Given the description of an element on the screen output the (x, y) to click on. 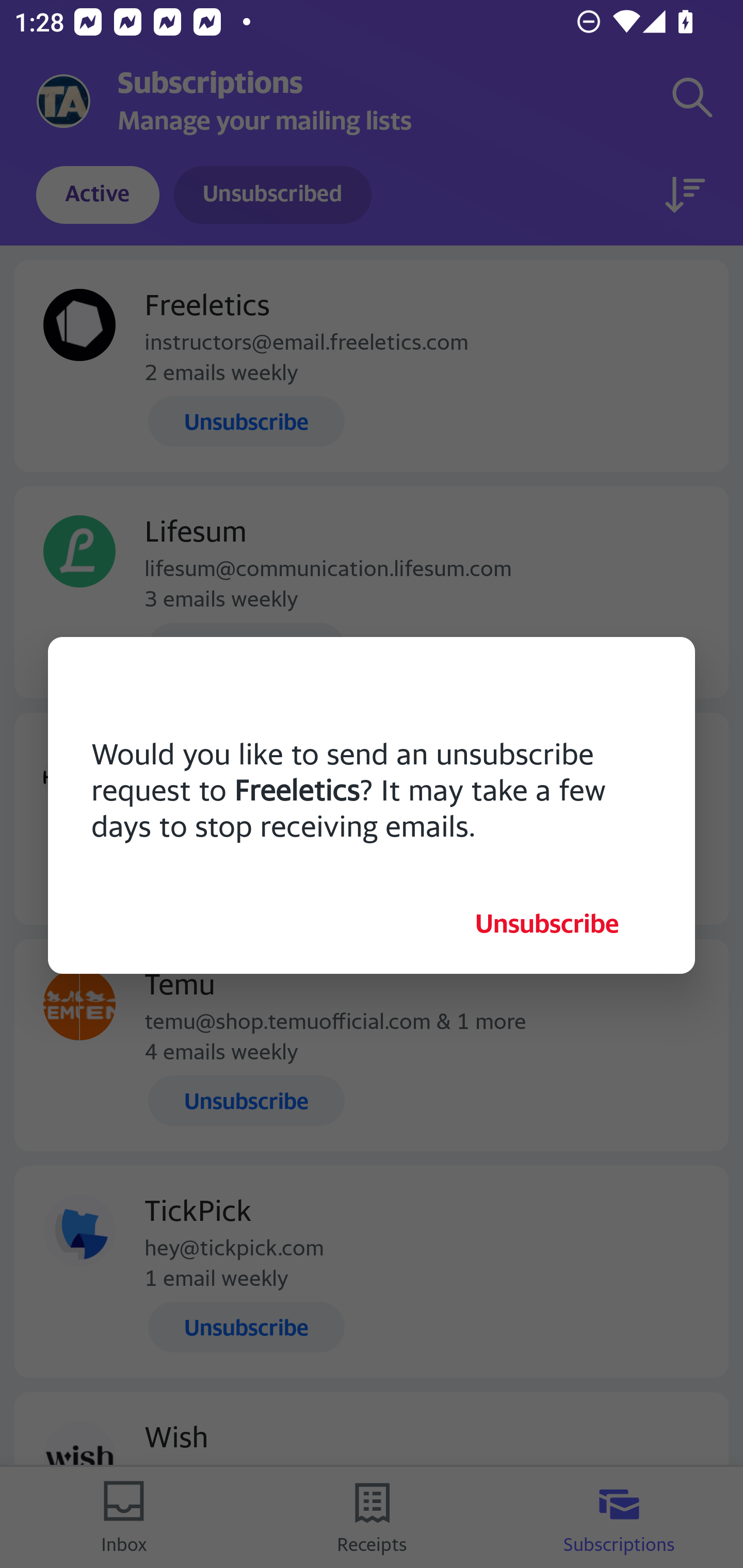
Unsubscribe (546, 923)
